Given the description of an element on the screen output the (x, y) to click on. 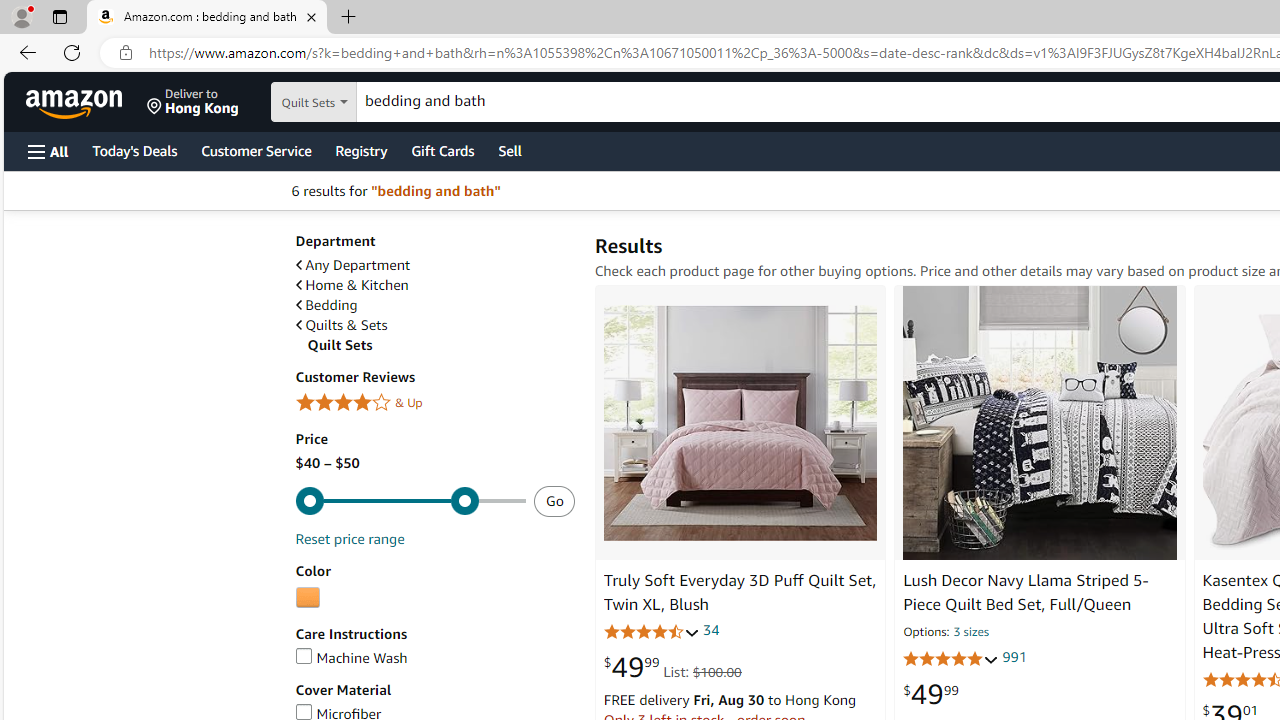
Machine Wash (434, 658)
AutomationID: p_n_feature_twenty_browse-bin/3254105011 (307, 597)
Reset price range (349, 538)
